Given the description of an element on the screen output the (x, y) to click on. 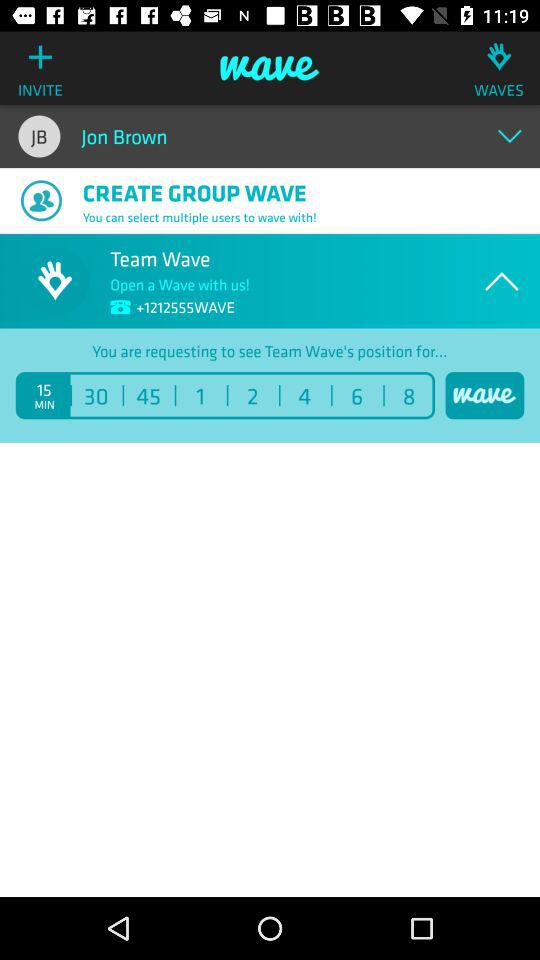
launch the icon to the left of the waves icon (269, 68)
